Given the description of an element on the screen output the (x, y) to click on. 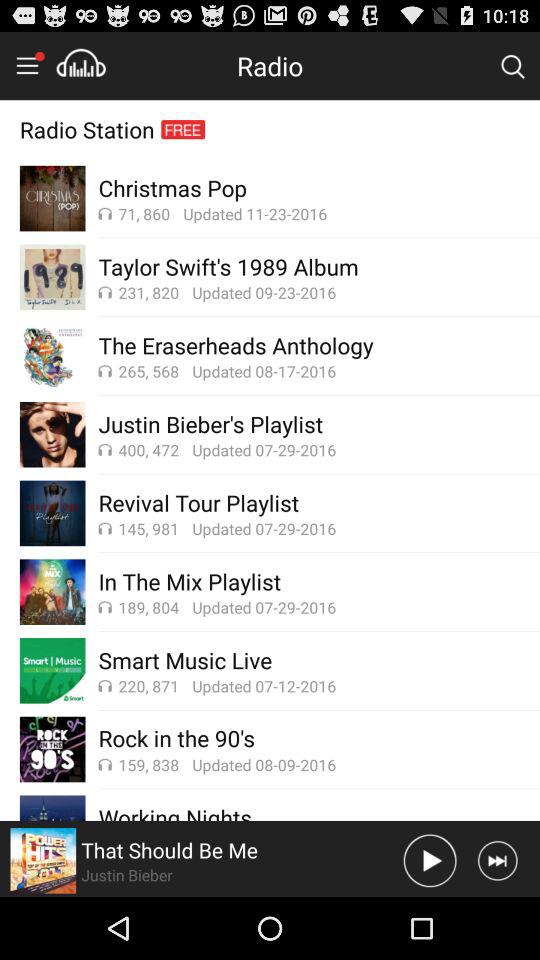
go to current cd (43, 860)
